Given the description of an element on the screen output the (x, y) to click on. 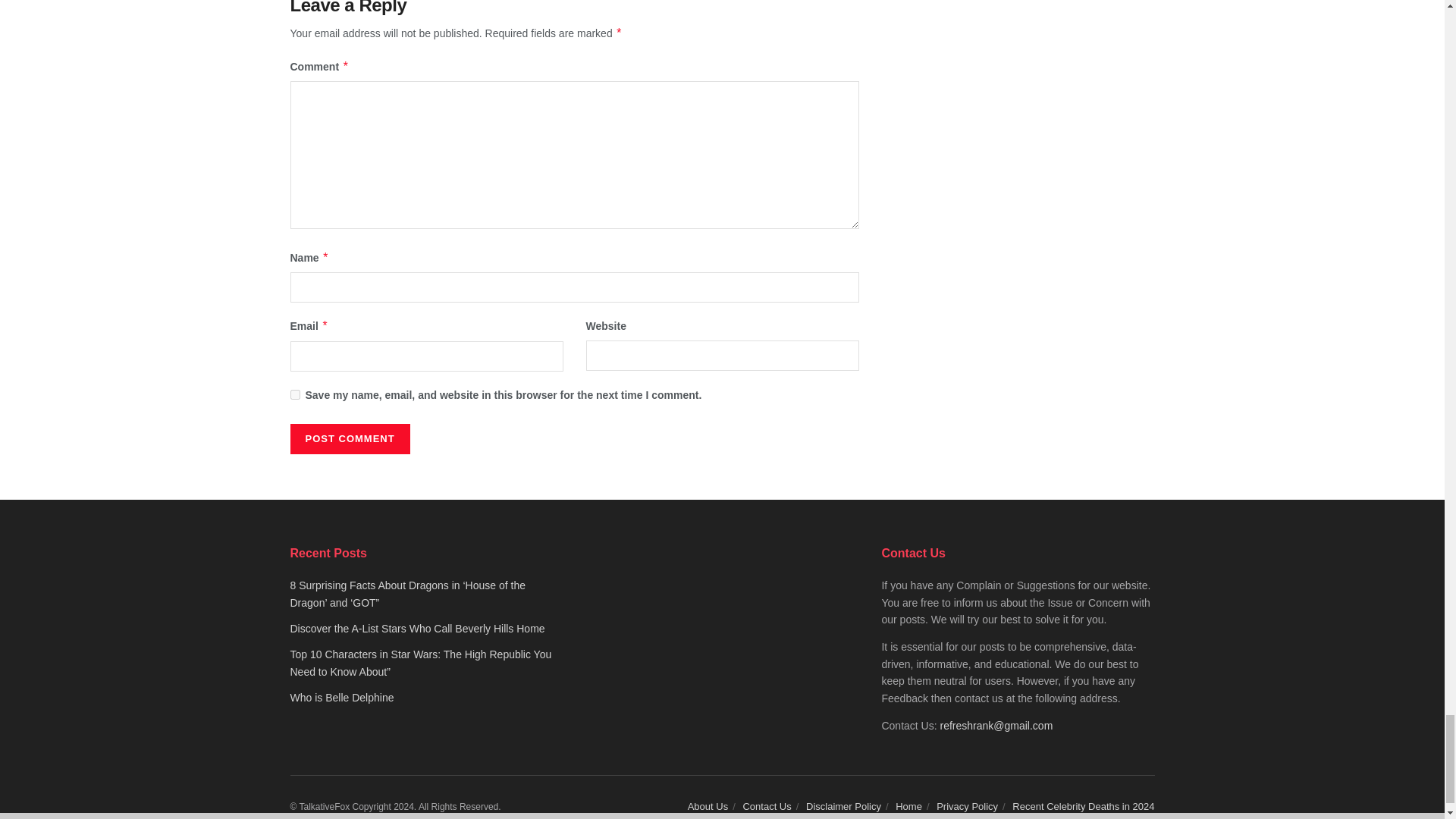
Post Comment (349, 439)
yes (294, 394)
